Given the description of an element on the screen output the (x, y) to click on. 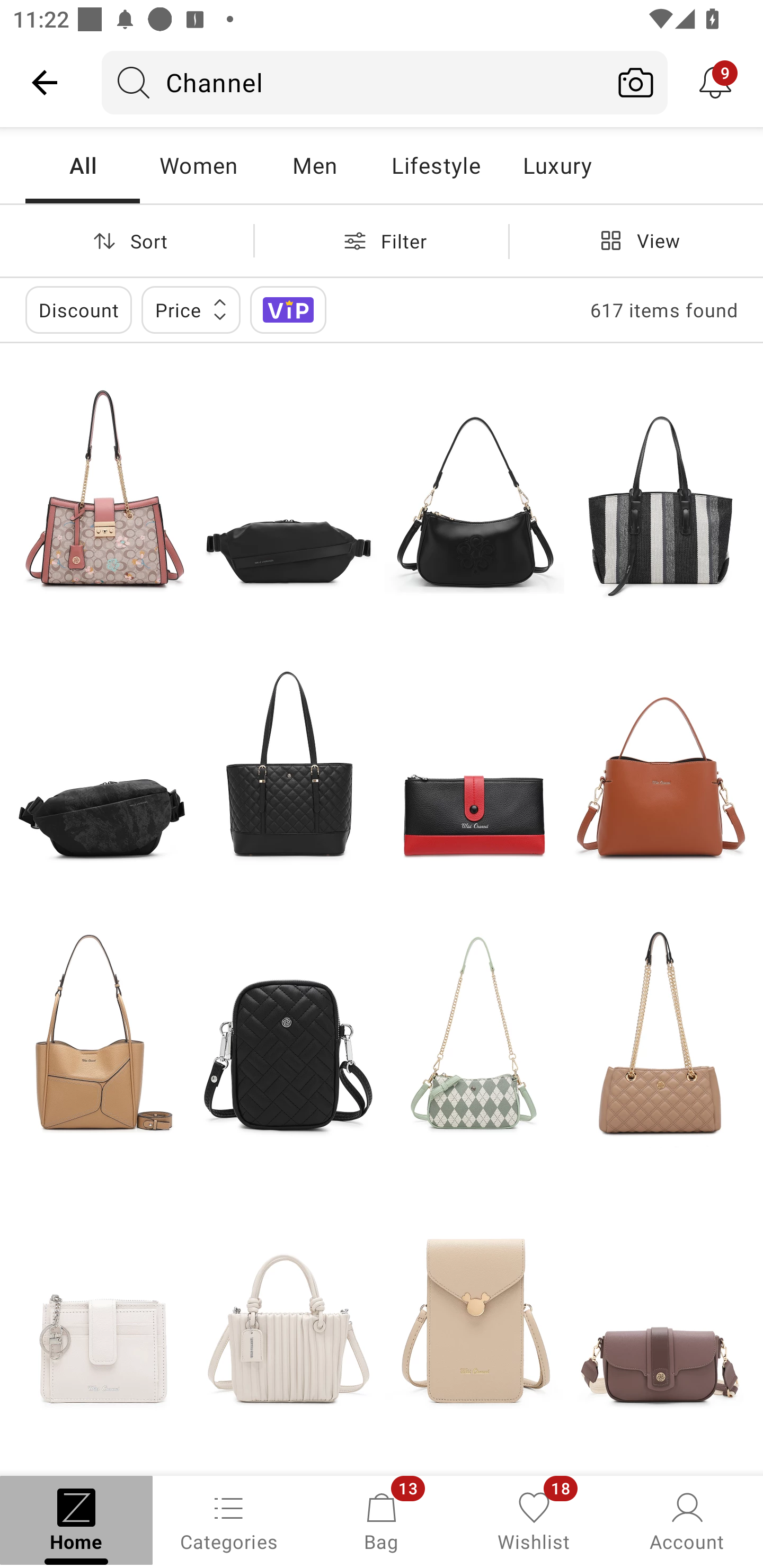
Navigate up (44, 82)
Channel (352, 82)
Women (198, 165)
Men (314, 165)
Lifestyle (435, 165)
Luxury (556, 165)
Sort (126, 240)
Filter (381, 240)
View (636, 240)
Discount (78, 309)
Price (190, 309)
Categories (228, 1519)
Bag, 13 new notifications Bag (381, 1519)
Wishlist, 18 new notifications Wishlist (533, 1519)
Account (686, 1519)
